Given the description of an element on the screen output the (x, y) to click on. 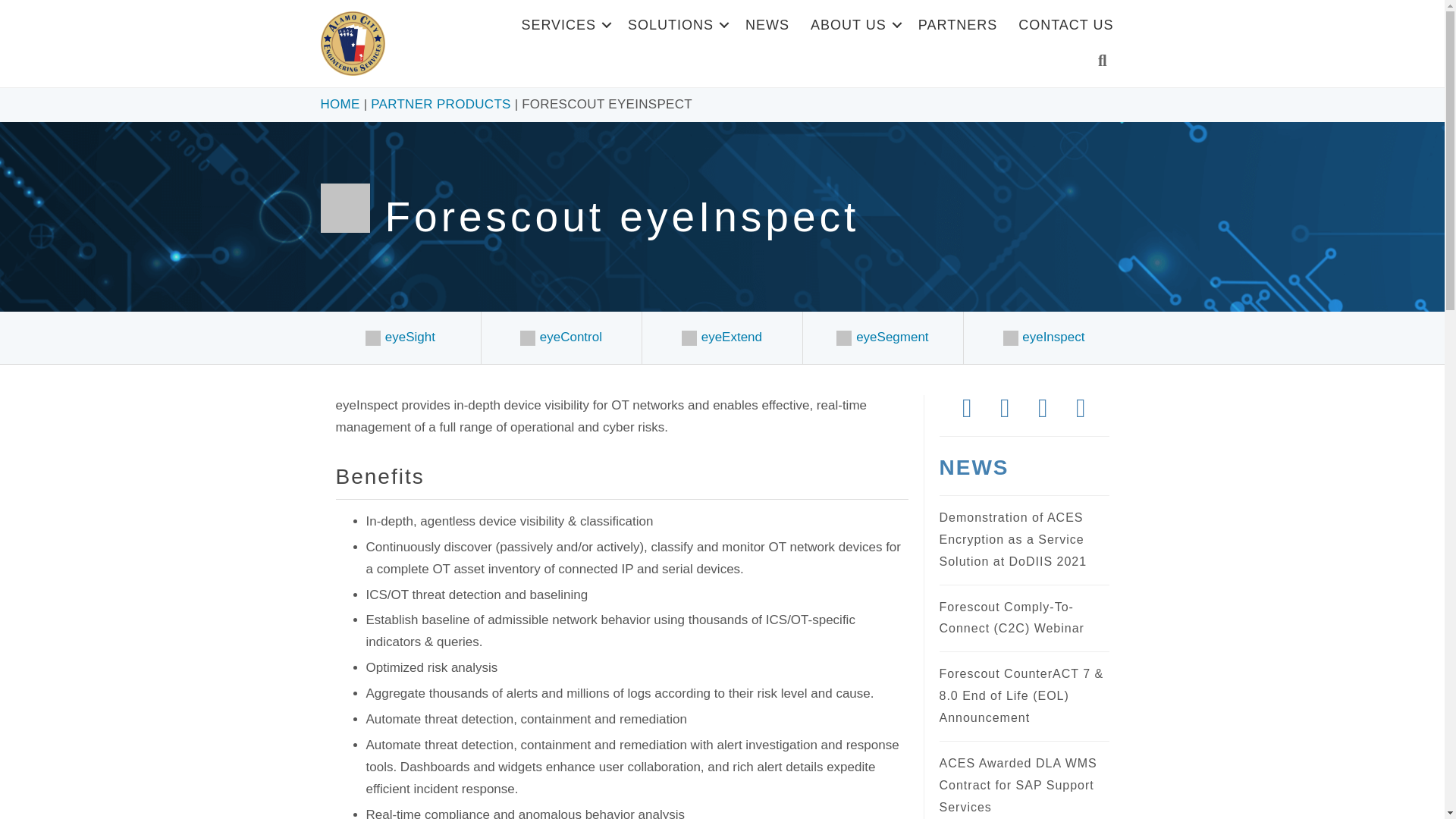
Search (1105, 60)
ABOUT US (853, 24)
NEWS (767, 24)
CONTACT US (1065, 24)
ACES Awarded DLA WMS Contract for SAP Support Services (1017, 785)
PARTNERS (957, 24)
HOME (339, 105)
SOLUTIONS (676, 24)
SERVICES (564, 24)
